Given the description of an element on the screen output the (x, y) to click on. 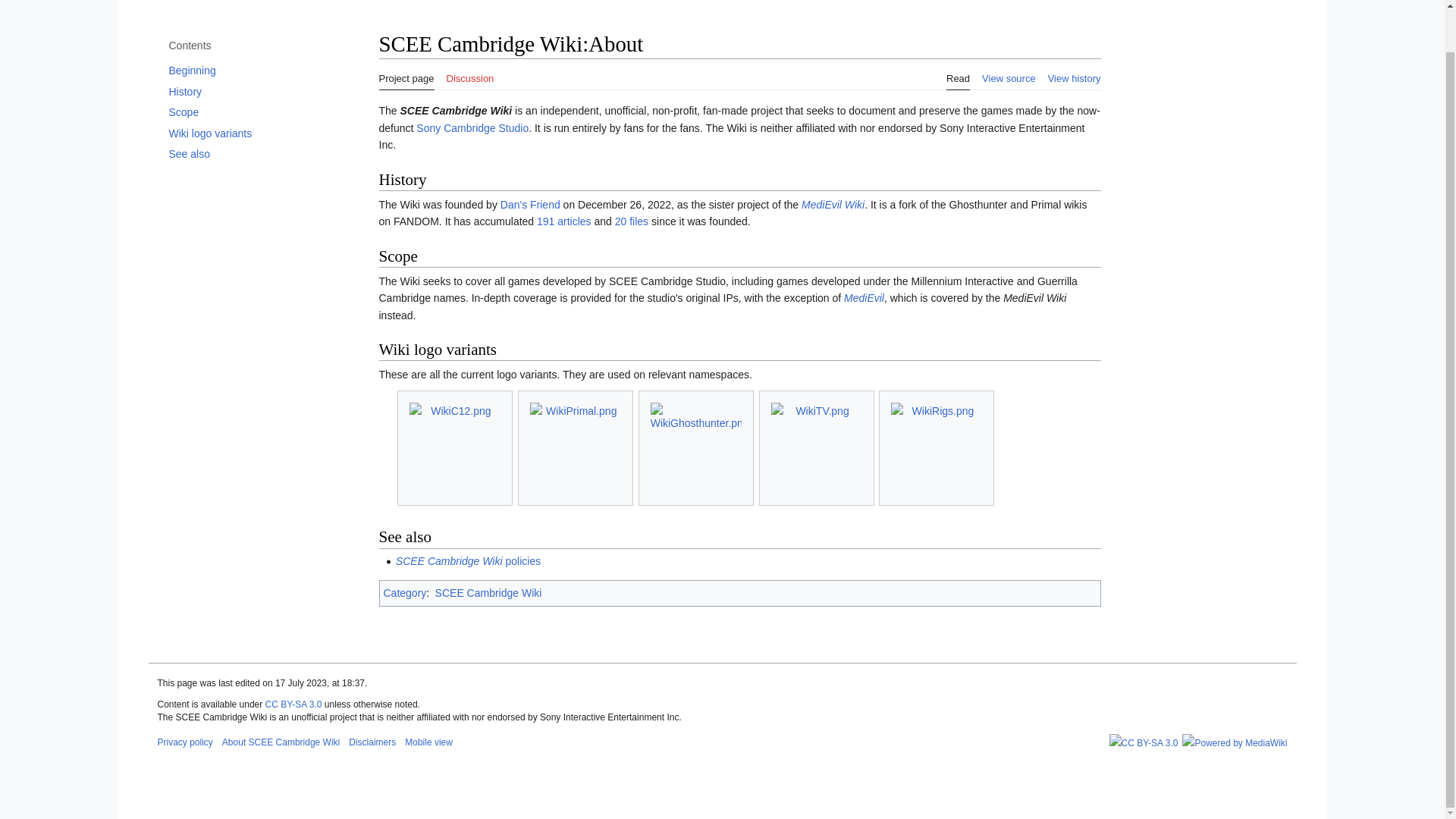
Beginning (245, 70)
See also (245, 153)
Scope (245, 112)
Project page (405, 74)
View source (1008, 74)
Wiki logo variants (245, 133)
History (245, 91)
View history (1074, 74)
Discussion (469, 74)
